Given the description of an element on the screen output the (x, y) to click on. 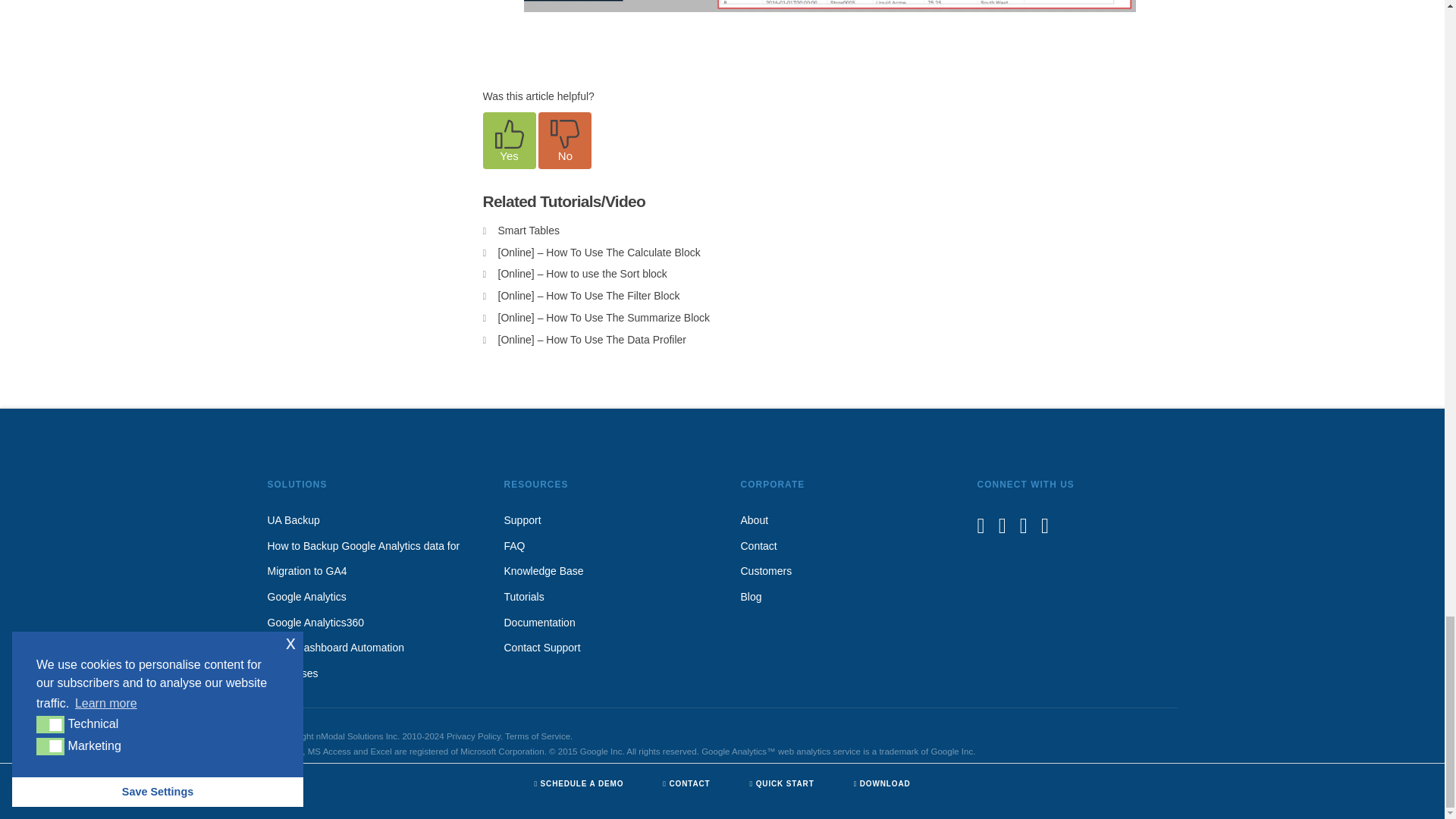
Smart Tables (528, 230)
